Given the description of an element on the screen output the (x, y) to click on. 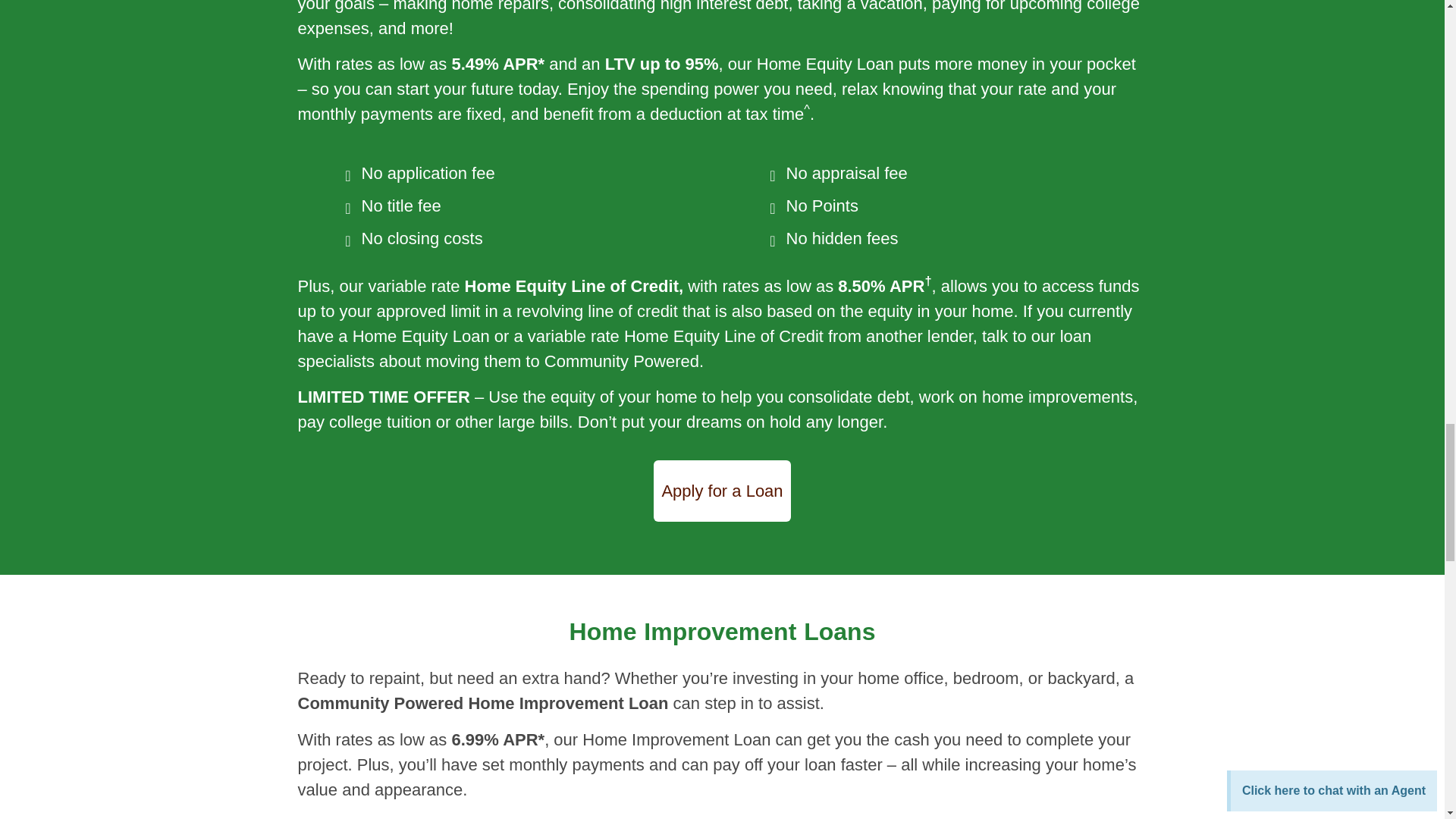
Page 3 (722, 733)
Page 3 (722, 63)
